Given the description of an element on the screen output the (x, y) to click on. 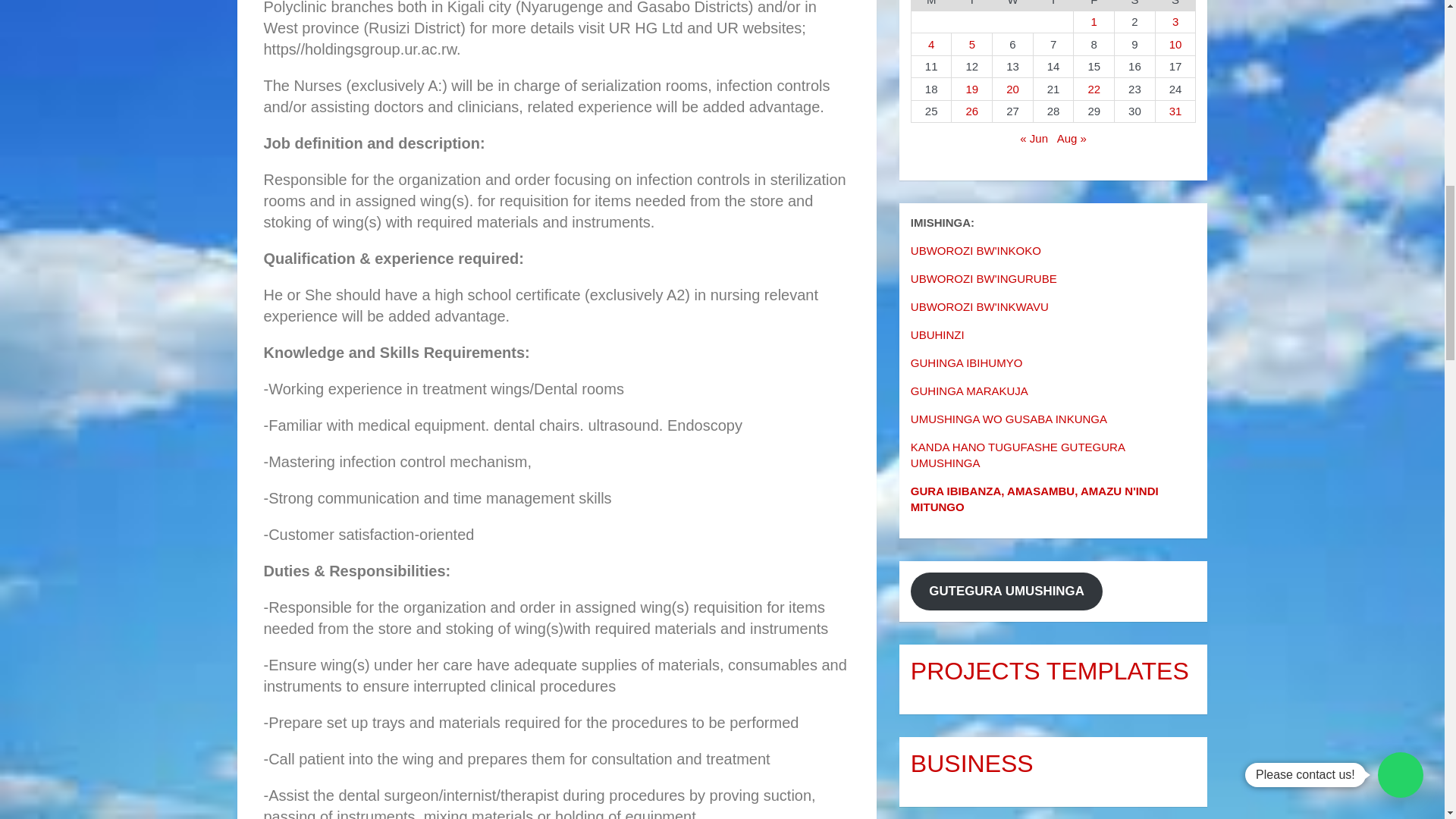
Friday (1094, 5)
Monday (931, 5)
Sunday (1174, 5)
Tuesday (972, 5)
Wednesday (1012, 5)
Saturday (1135, 5)
Thursday (1053, 5)
